Given the description of an element on the screen output the (x, y) to click on. 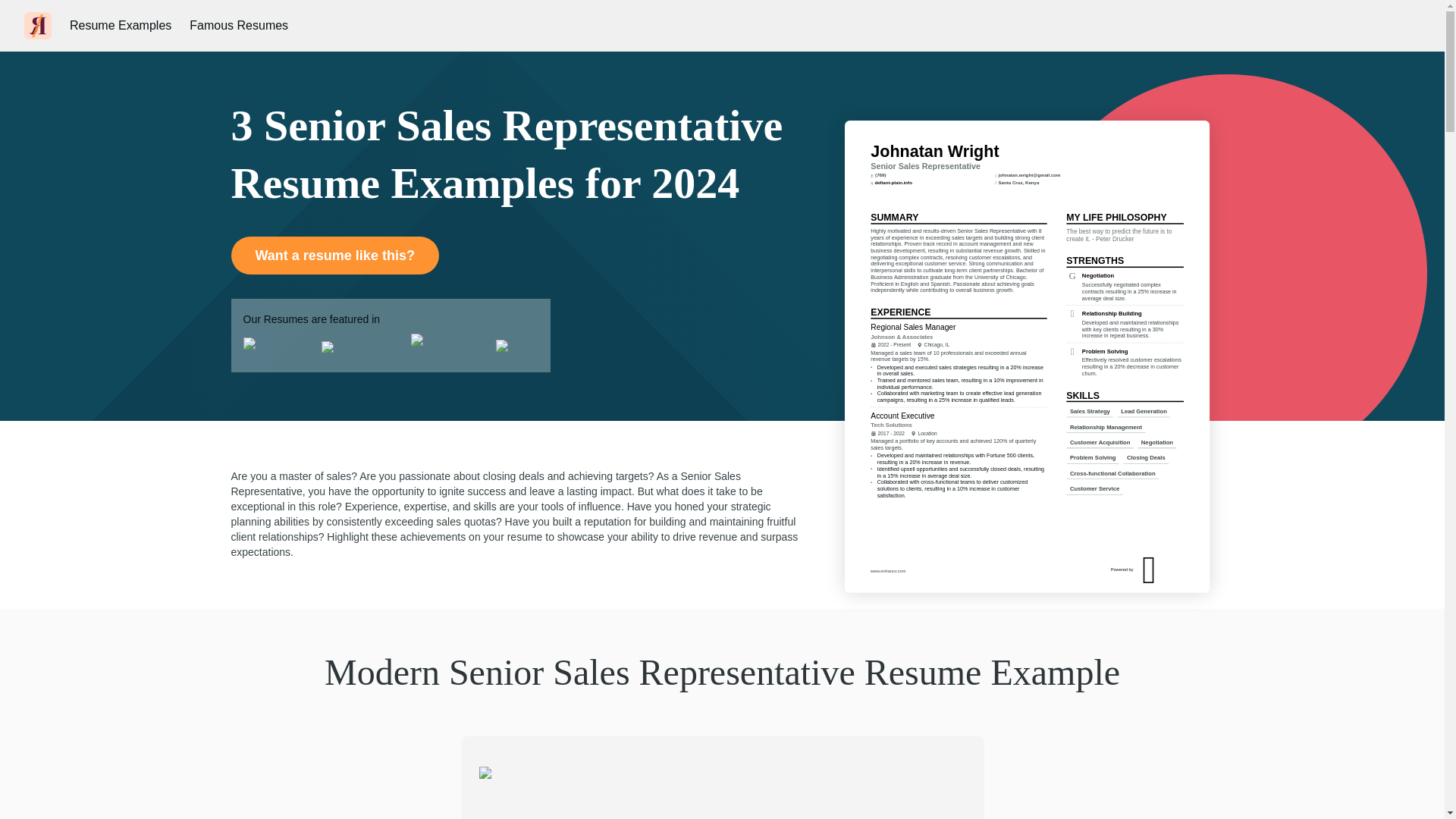
Famous Resumes (238, 26)
defiant-plain.info (916, 241)
Resume Examples (120, 26)
Powered by (1182, 614)
Want a resume like this? (334, 255)
